Given the description of an element on the screen output the (x, y) to click on. 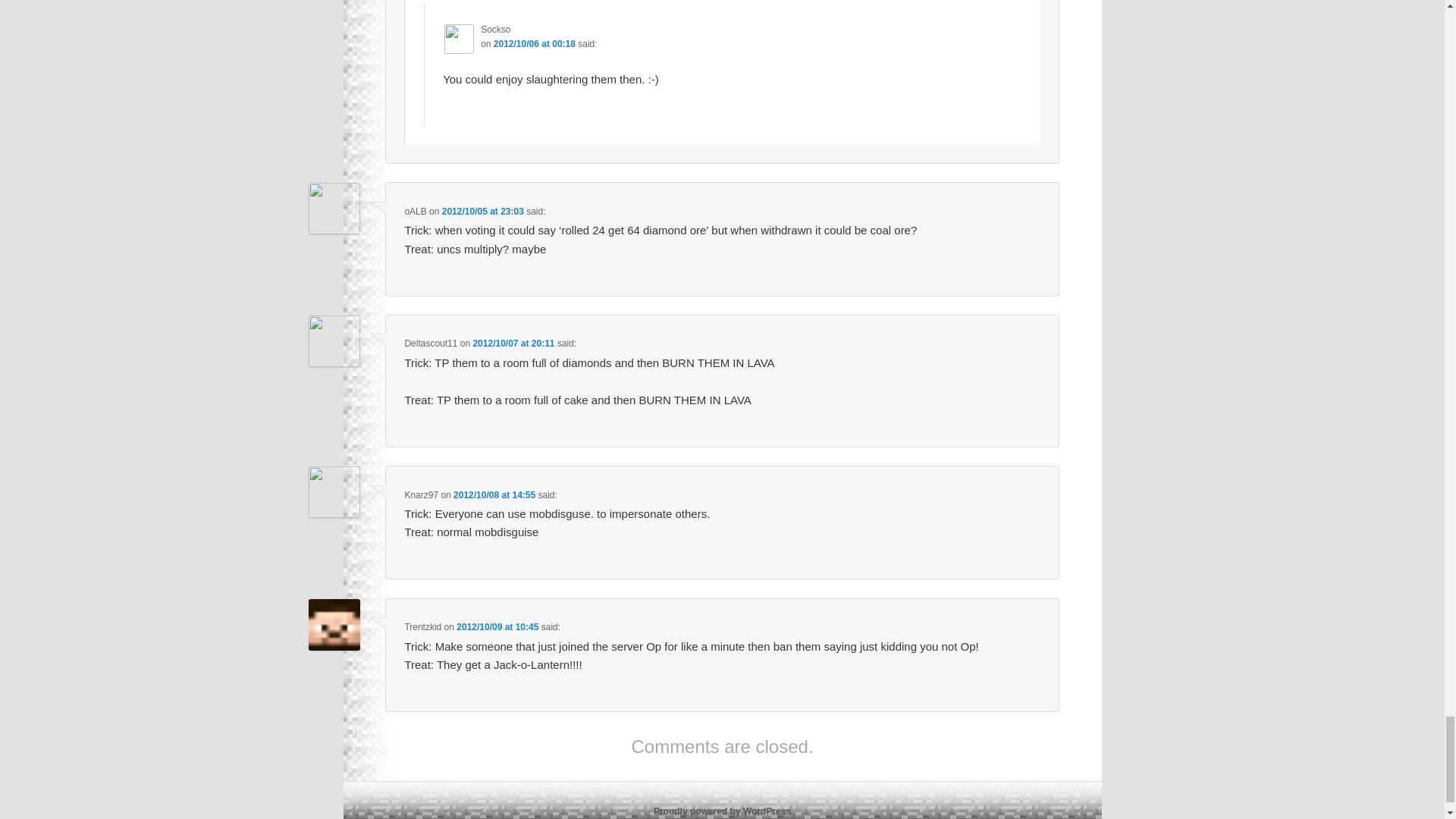
Semantic Personal Publishing Platform (721, 810)
